Given the description of an element on the screen output the (x, y) to click on. 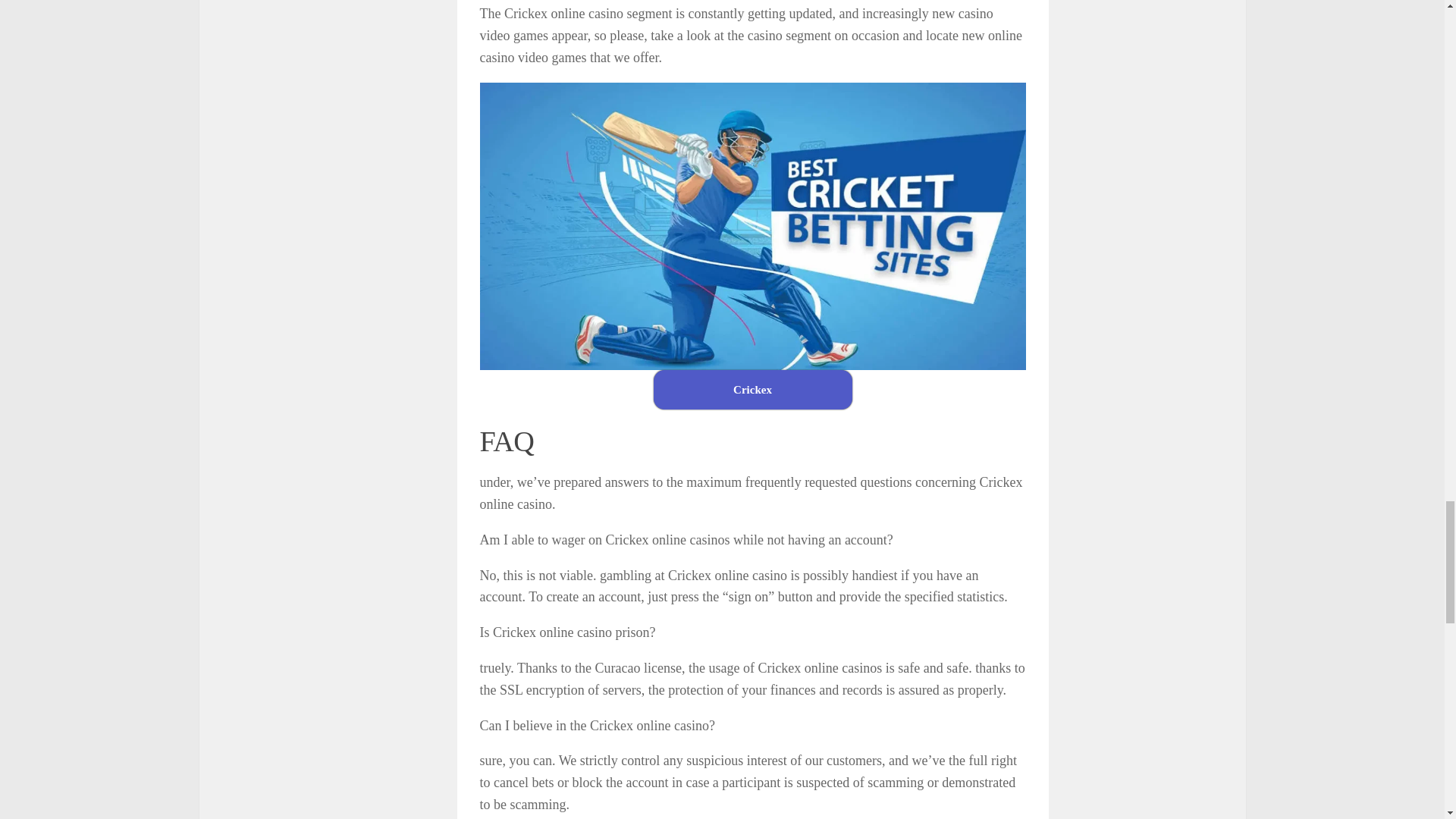
Crickex (752, 389)
Crickex (752, 389)
